Given the description of an element on the screen output the (x, y) to click on. 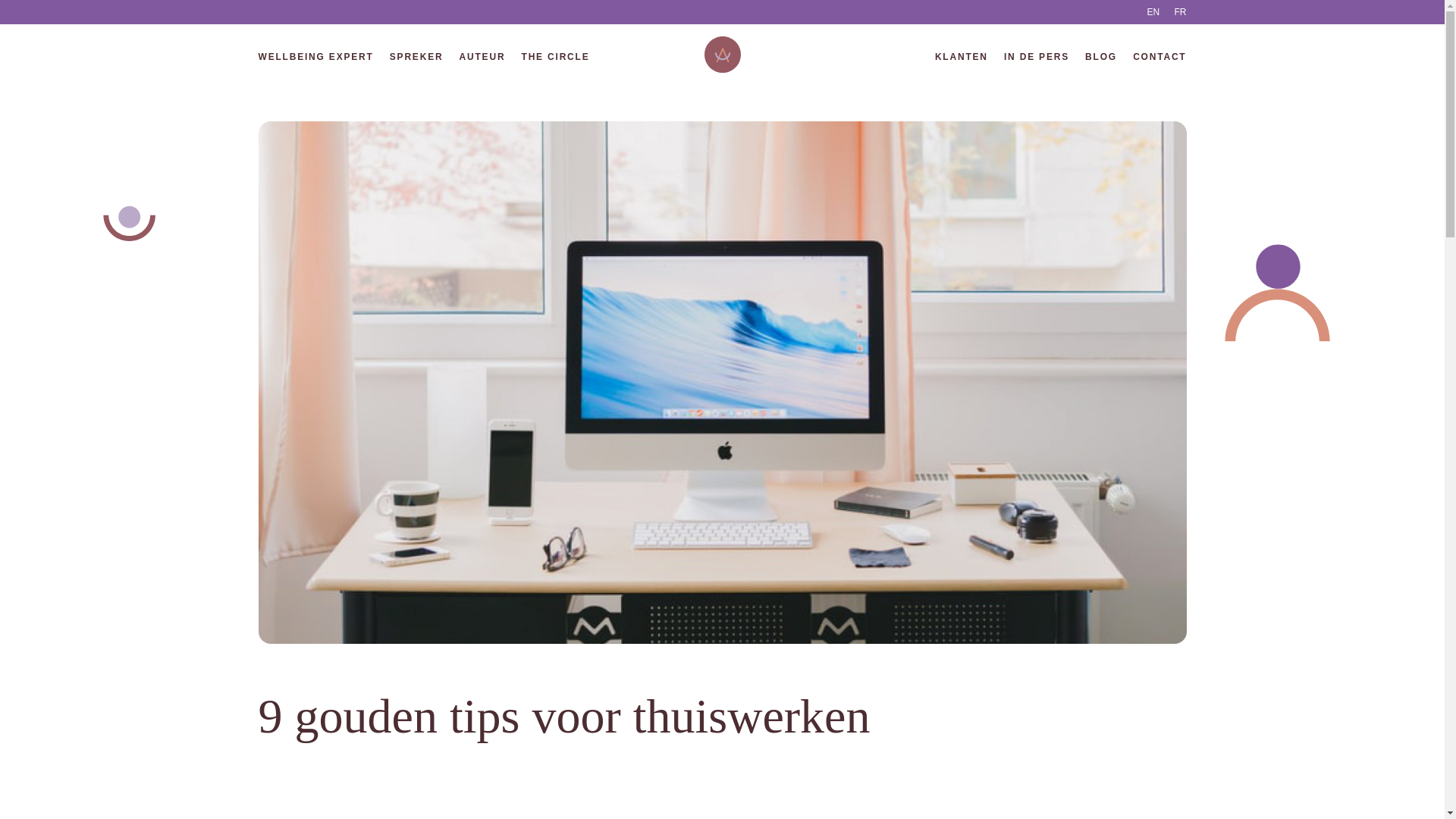
WELLBEING EXPERT Element type: text (315, 56)
FR Element type: text (1179, 12)
BLOG Element type: text (1101, 56)
AUTEUR Element type: text (482, 56)
IN DE PERS Element type: text (1036, 56)
SPREKER Element type: text (416, 56)
EN Element type: text (1152, 12)
CONTACT Element type: text (1159, 56)
KLANTEN Element type: text (961, 56)
THE CIRCLE Element type: text (555, 56)
